Given the description of an element on the screen output the (x, y) to click on. 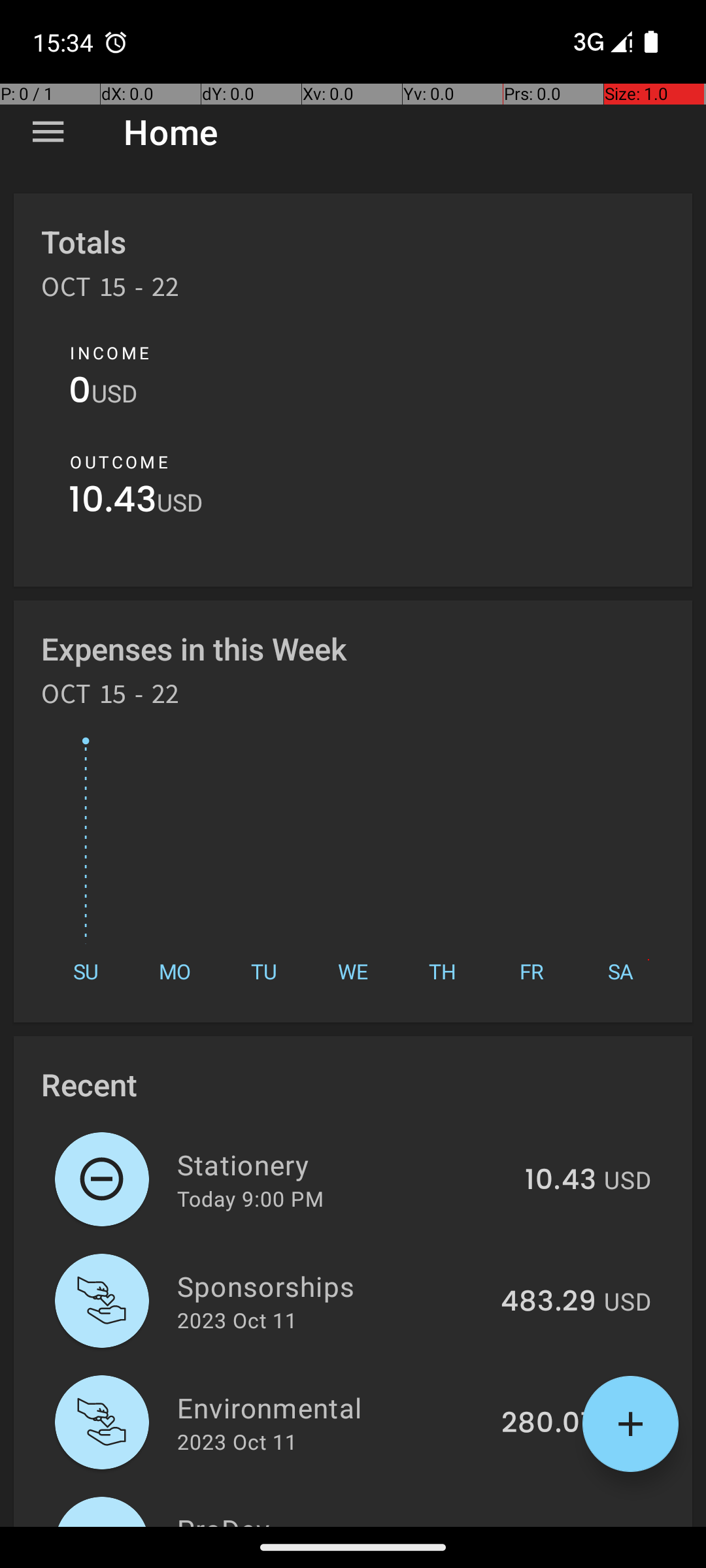
10.43 Element type: android.widget.TextView (112, 502)
Sponsorships Element type: android.widget.TextView (331, 1285)
483.29 Element type: android.widget.TextView (548, 1301)
Environmental Element type: android.widget.TextView (331, 1407)
280.07 Element type: android.widget.TextView (548, 1423)
473.43 Element type: android.widget.TextView (548, 1524)
